Given the description of an element on the screen output the (x, y) to click on. 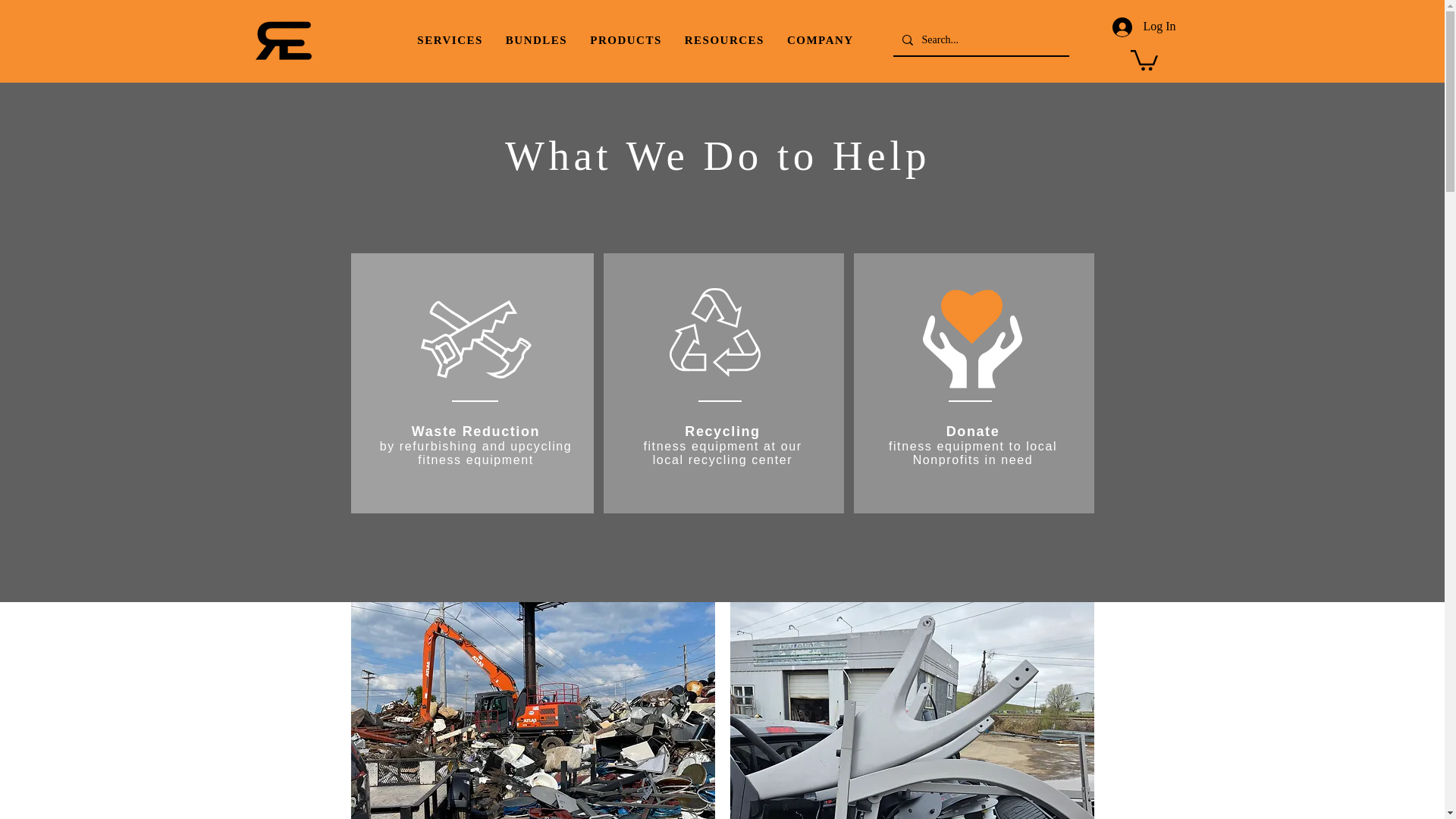
SERVICES (635, 41)
BUNDLES (449, 41)
PRODUCTS (536, 41)
